Given the description of an element on the screen output the (x, y) to click on. 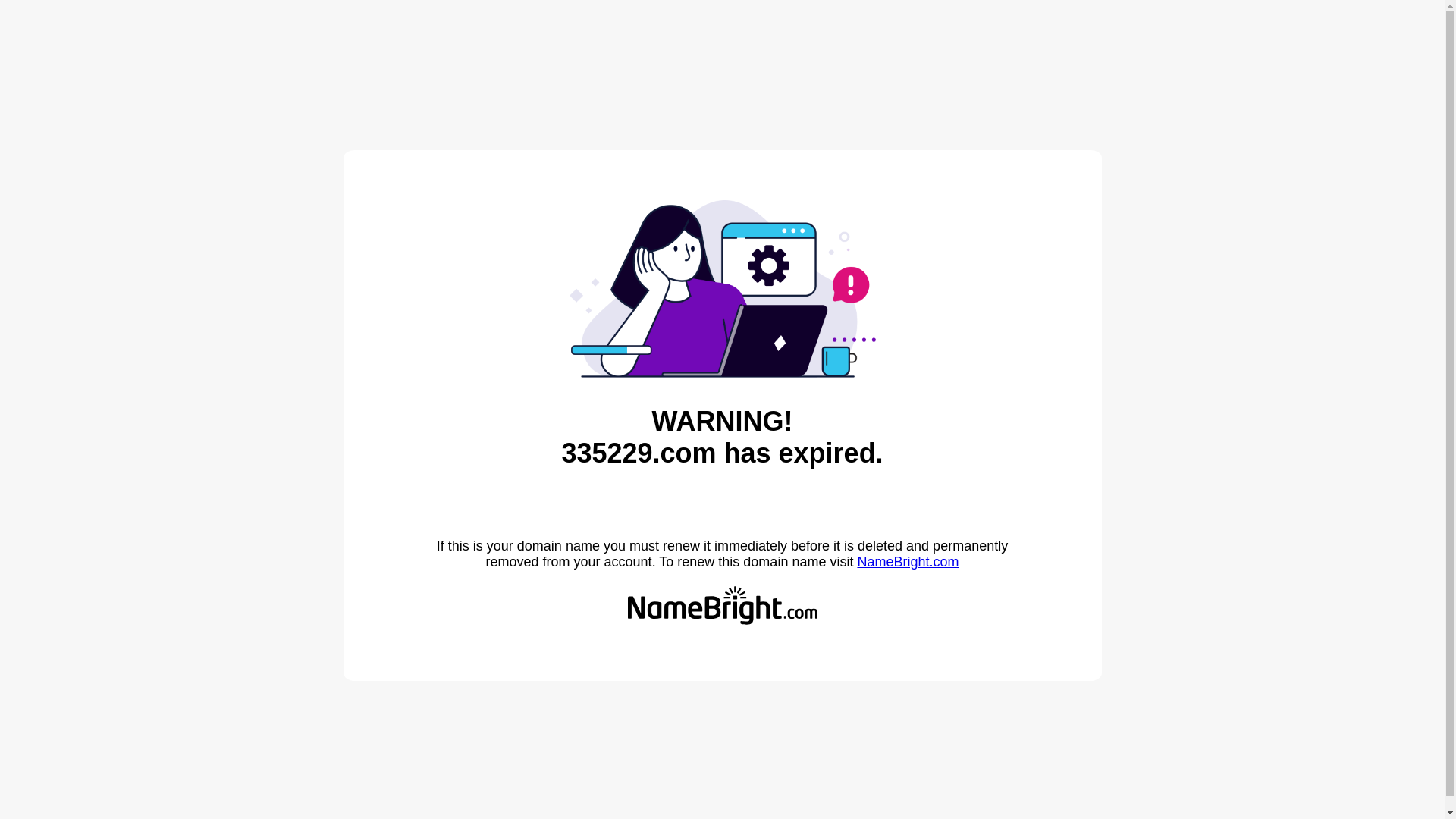
NameBright.com Element type: text (907, 561)
